Given the description of an element on the screen output the (x, y) to click on. 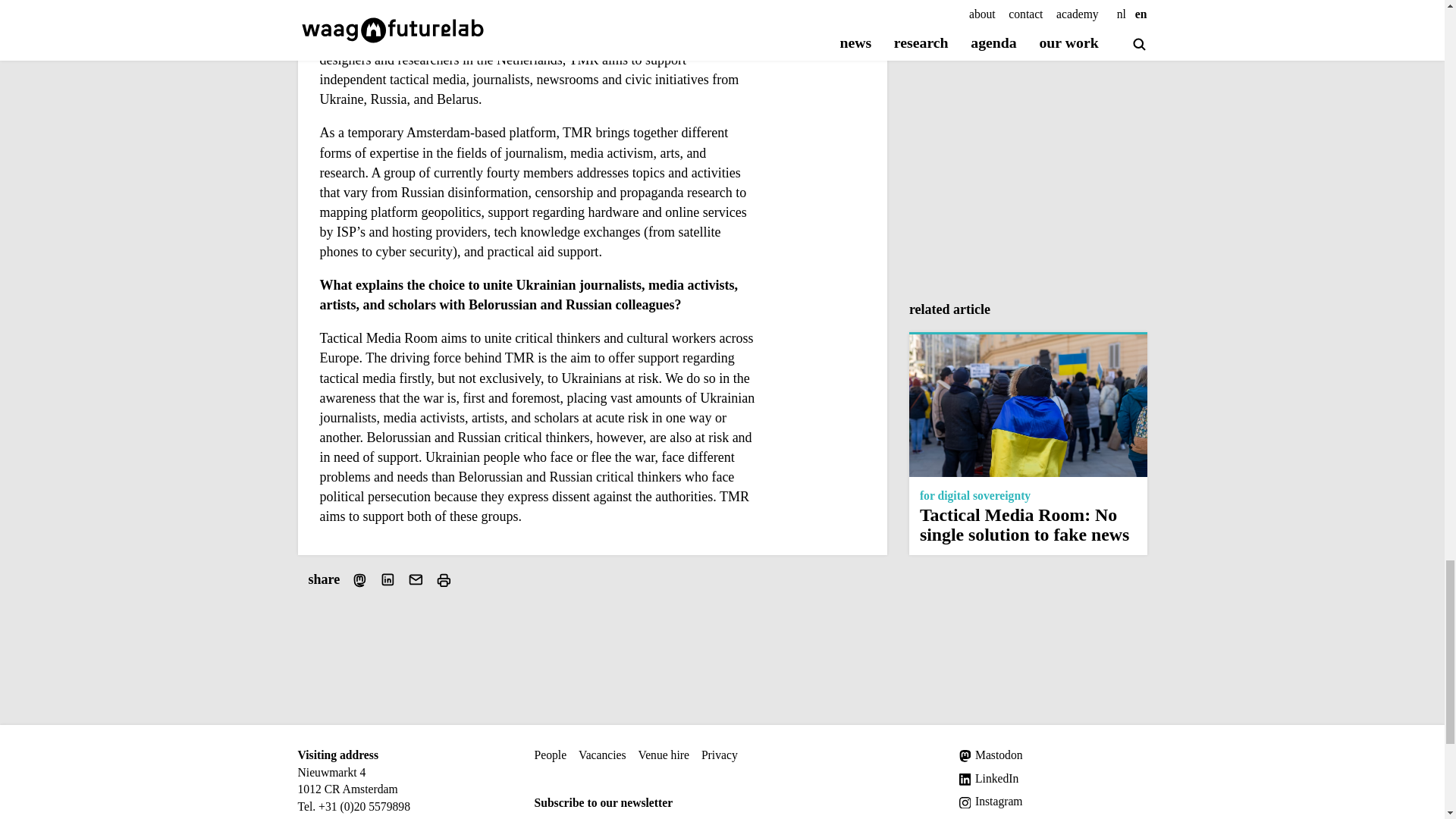
Flickr (1052, 817)
Share via e-mail (415, 579)
LinkedIn (1052, 778)
Mastodon (1052, 755)
Venue hire (663, 755)
Share on LinkedIn (388, 579)
Print (443, 579)
Vacancies (602, 755)
Privacy (719, 755)
Share on Mastodon (360, 579)
Instagram (1052, 801)
People (550, 755)
